Given the description of an element on the screen output the (x, y) to click on. 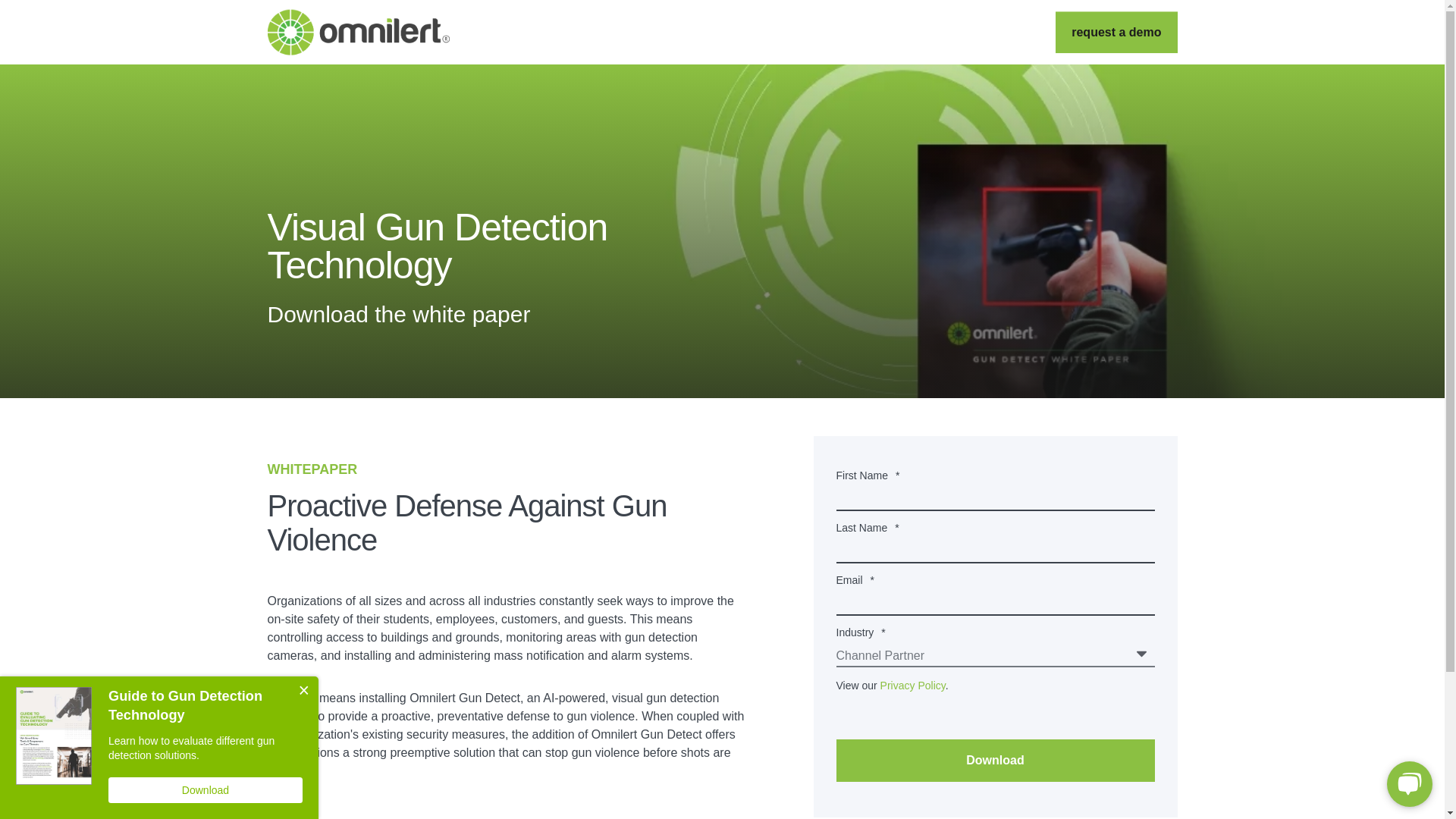
Privacy Policy (912, 685)
request a demo (1115, 32)
Download (994, 760)
Button request a demo (1115, 32)
Download (994, 760)
logo (357, 32)
Download (204, 790)
